Given the description of an element on the screen output the (x, y) to click on. 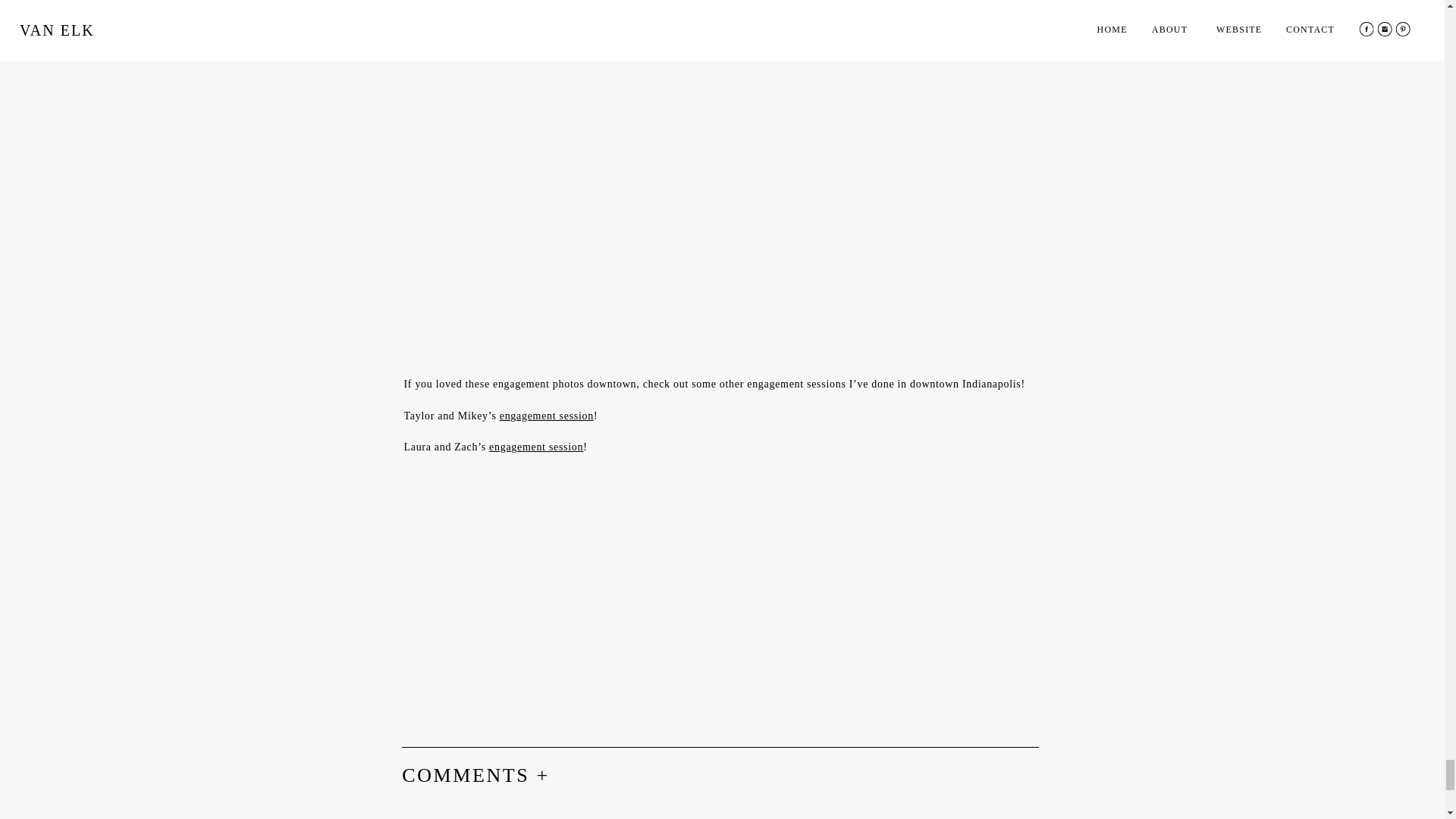
engagement session (546, 415)
engagement session (536, 446)
